Given the description of an element on the screen output the (x, y) to click on. 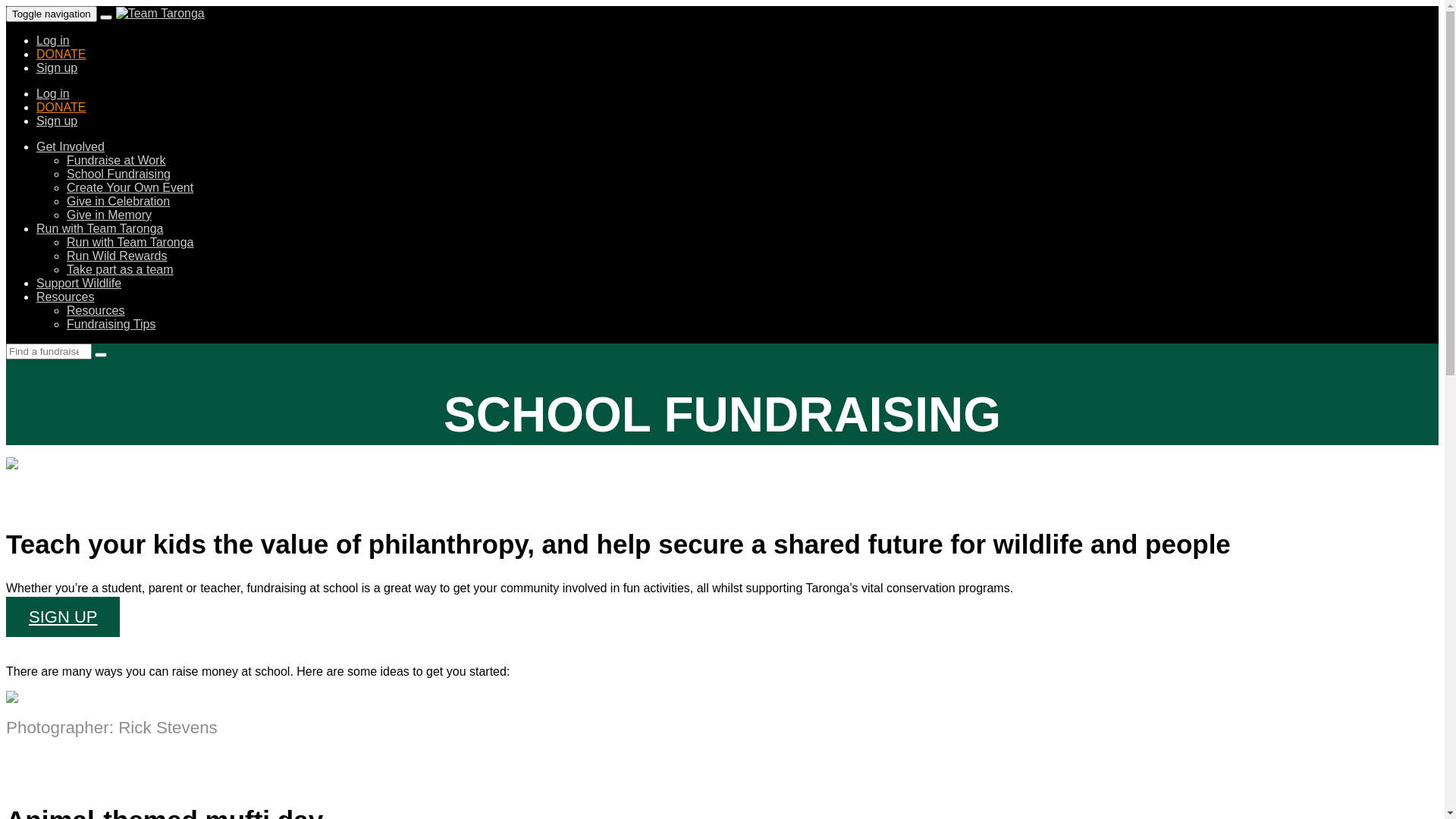
DONATE Element type: text (60, 53)
Resources Element type: text (95, 310)
School Fundraising Element type: text (118, 173)
Run with Team Taronga Element type: text (99, 228)
DONATE Element type: text (60, 106)
Run with Team Taronga Element type: text (130, 241)
Run Wild Rewards Element type: text (116, 255)
Get Involved Element type: text (70, 146)
Fundraise at Work Element type: text (115, 159)
Give in Memory Element type: text (108, 214)
Toggle navigation Element type: text (51, 13)
Sign up Element type: text (56, 120)
Resources Element type: text (65, 296)
Fundraising Tips Element type: text (110, 323)
Support Wildlife Element type: text (78, 282)
Take part as a team Element type: text (119, 269)
Log in Element type: text (52, 40)
SIGN UP Element type: text (62, 616)
Log in Element type: text (52, 93)
Create Your Own Event Element type: text (129, 187)
Sign up Element type: text (56, 67)
Give in Celebration Element type: text (117, 200)
